Given the description of an element on the screen output the (x, y) to click on. 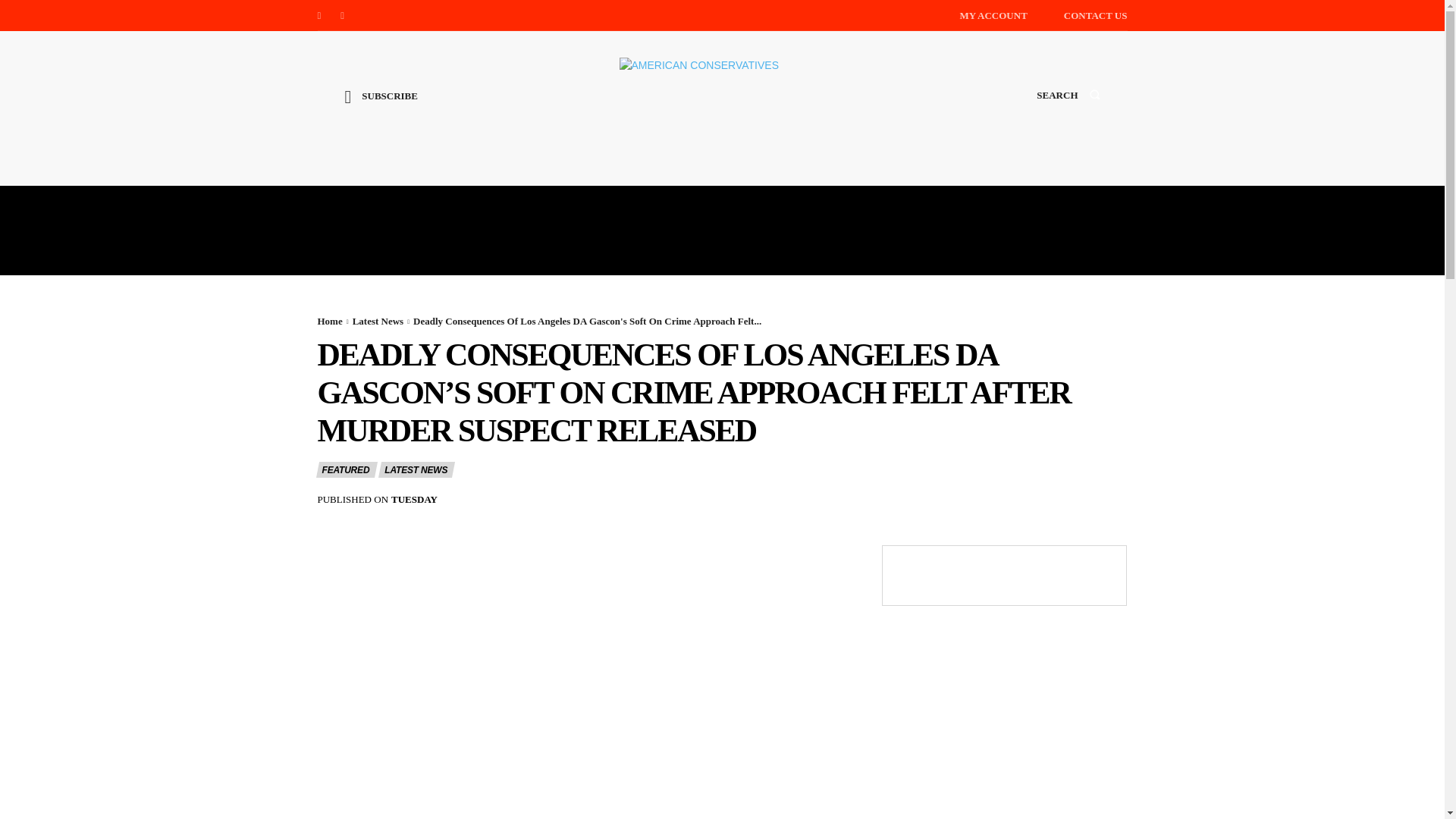
Twitter (342, 15)
SUBSCRIBE (380, 107)
LATEST NEWS (416, 469)
MY ACCOUNT (992, 15)
Subscribe (380, 107)
My Account (992, 15)
View all posts in Latest News (378, 320)
Search (1067, 109)
Home (329, 320)
CONTACT US (1095, 15)
FEATURED (346, 469)
SEARCH (1067, 109)
Latest News (378, 320)
Facebook (318, 15)
Contact Us (1095, 15)
